Given the description of an element on the screen output the (x, y) to click on. 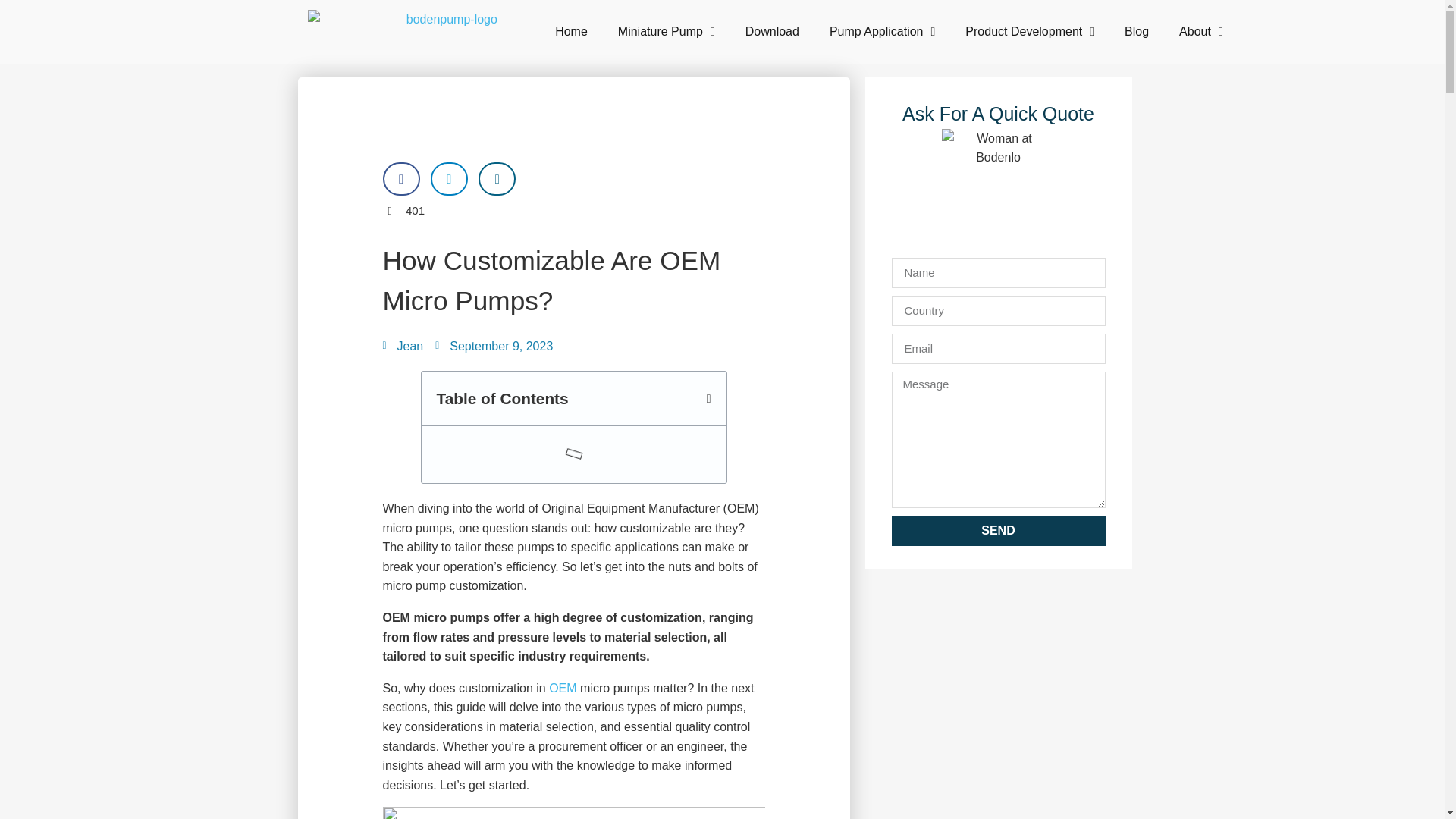
Pump Application (881, 31)
About (1201, 31)
Product Development (1029, 31)
Download (771, 31)
Miniature Pump (666, 31)
Home (571, 31)
Blog (1136, 31)
